Given the description of an element on the screen output the (x, y) to click on. 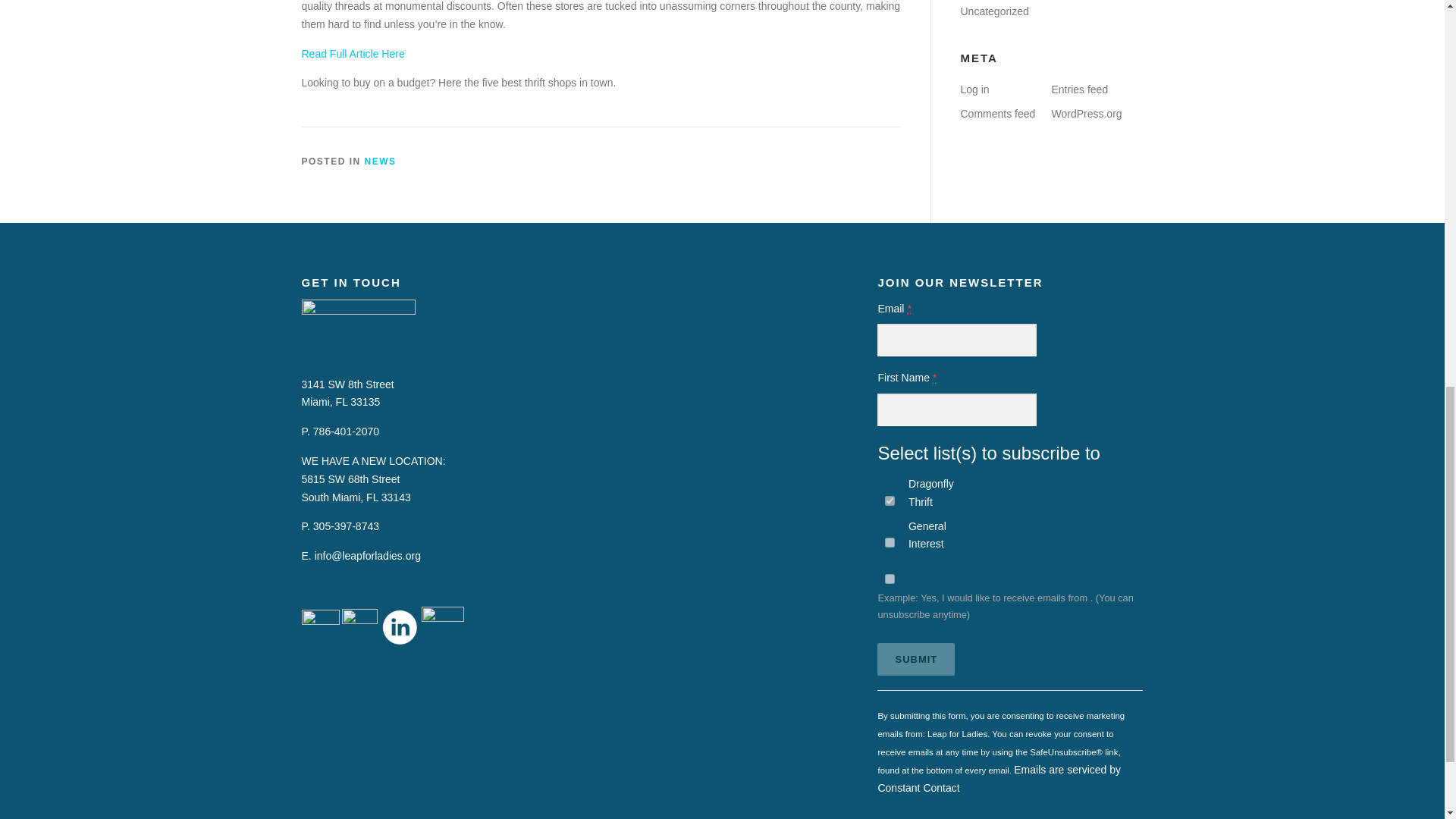
1 (890, 578)
NEWS (380, 161)
Submit (916, 658)
93a72d50-7aab-11e3-8133-d4ae527536ce (890, 542)
Read Full Article Here (352, 53)
5bebe900-4987-11e8-8bb5-d4ae52754dbc (890, 501)
